Given the description of an element on the screen output the (x, y) to click on. 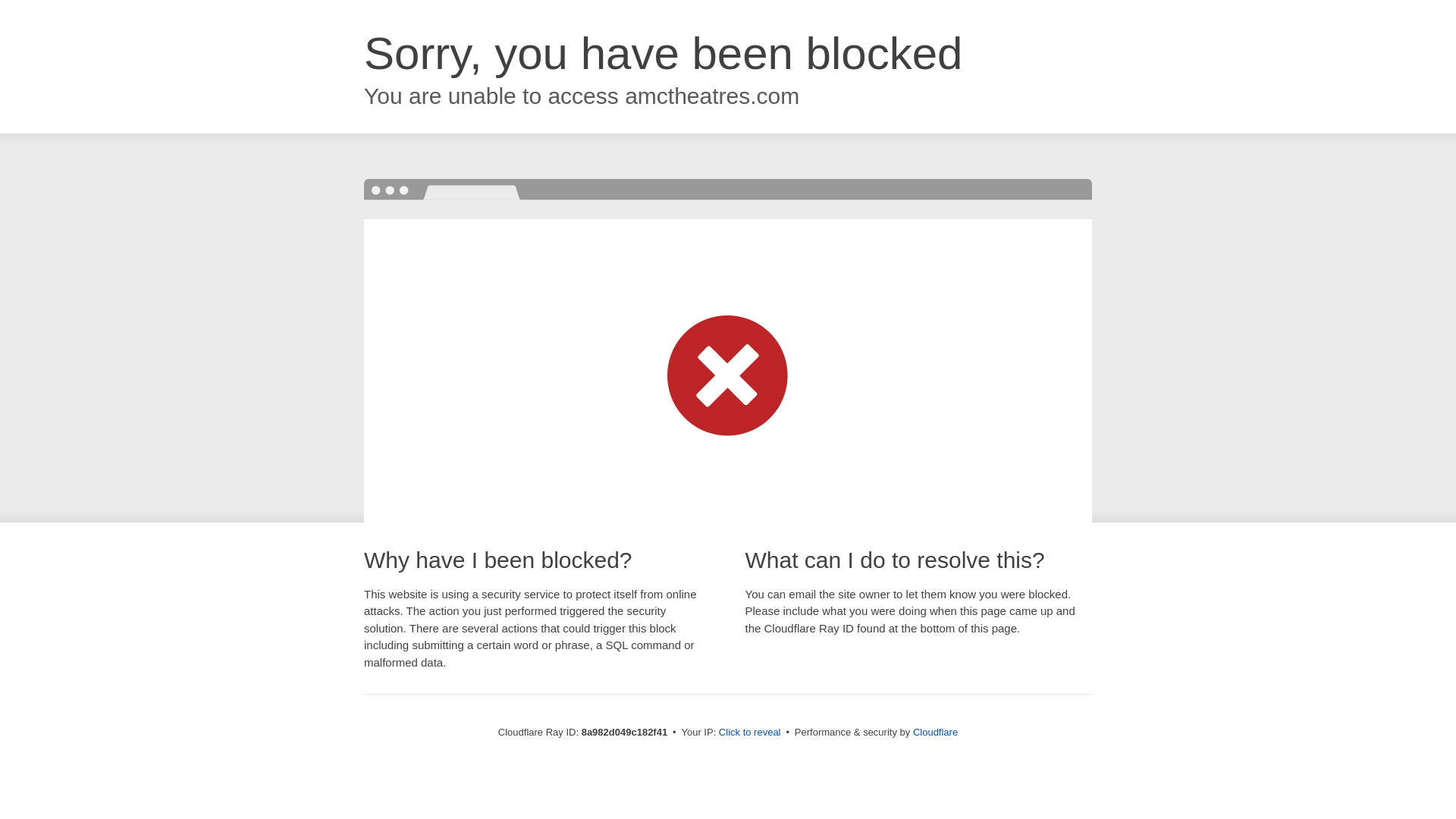
Cloudflare (935, 731)
Click to reveal (749, 732)
